Given the description of an element on the screen output the (x, y) to click on. 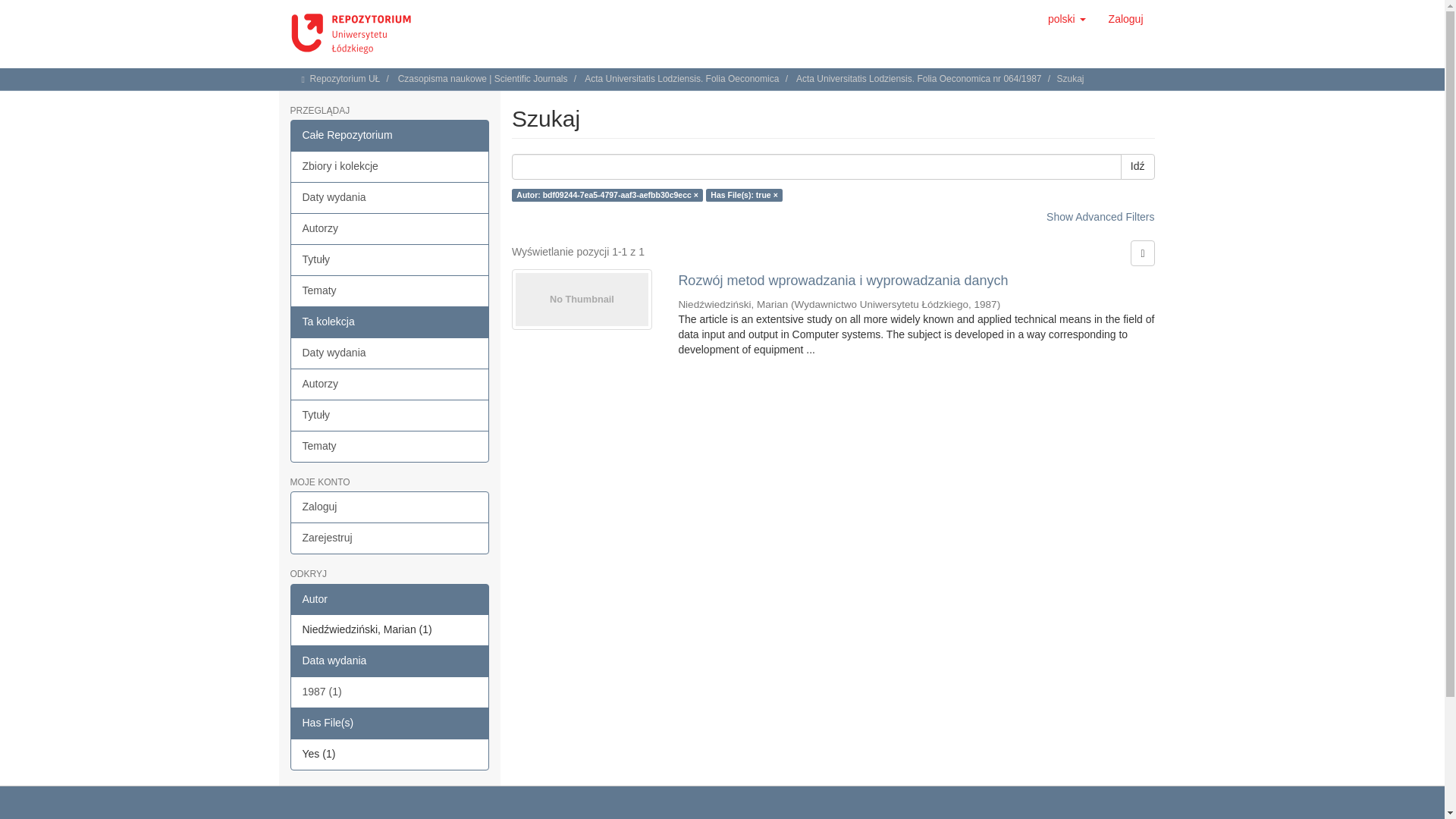
Autorzy (389, 384)
Tematy (389, 446)
Daty wydania (389, 197)
Zbiory i kolekcje (389, 166)
Data wydania (389, 661)
Ta kolekcja (389, 322)
Autorzy (389, 228)
Zaloguj (1125, 18)
Tematy (389, 291)
Autor (389, 599)
